Given the description of an element on the screen output the (x, y) to click on. 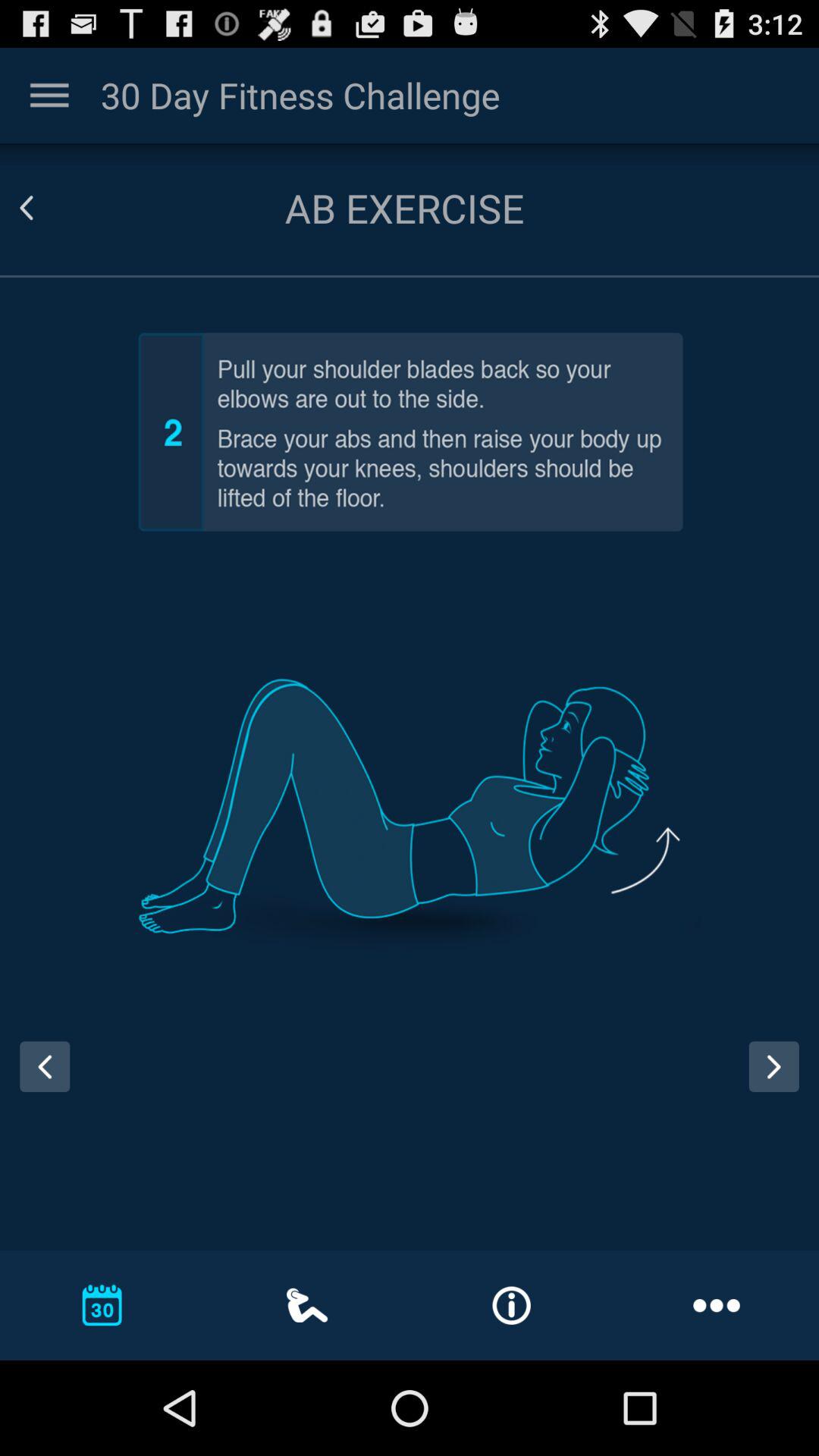
view previous exercise (39, 1081)
